Given the description of an element on the screen output the (x, y) to click on. 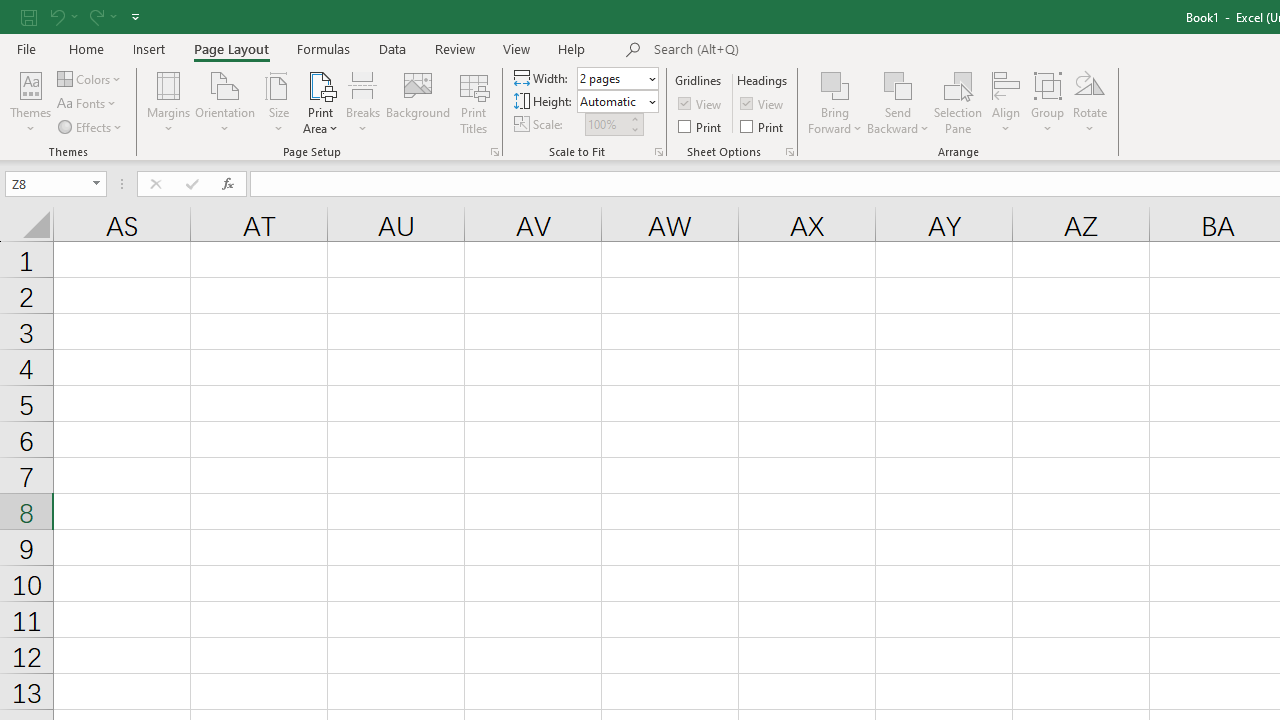
Selection Pane... (958, 102)
Align (1005, 102)
Print Area (320, 102)
More (633, 118)
Print Titles (474, 102)
Size (278, 102)
Sheet Options (789, 151)
Page Setup (658, 151)
